Given the description of an element on the screen output the (x, y) to click on. 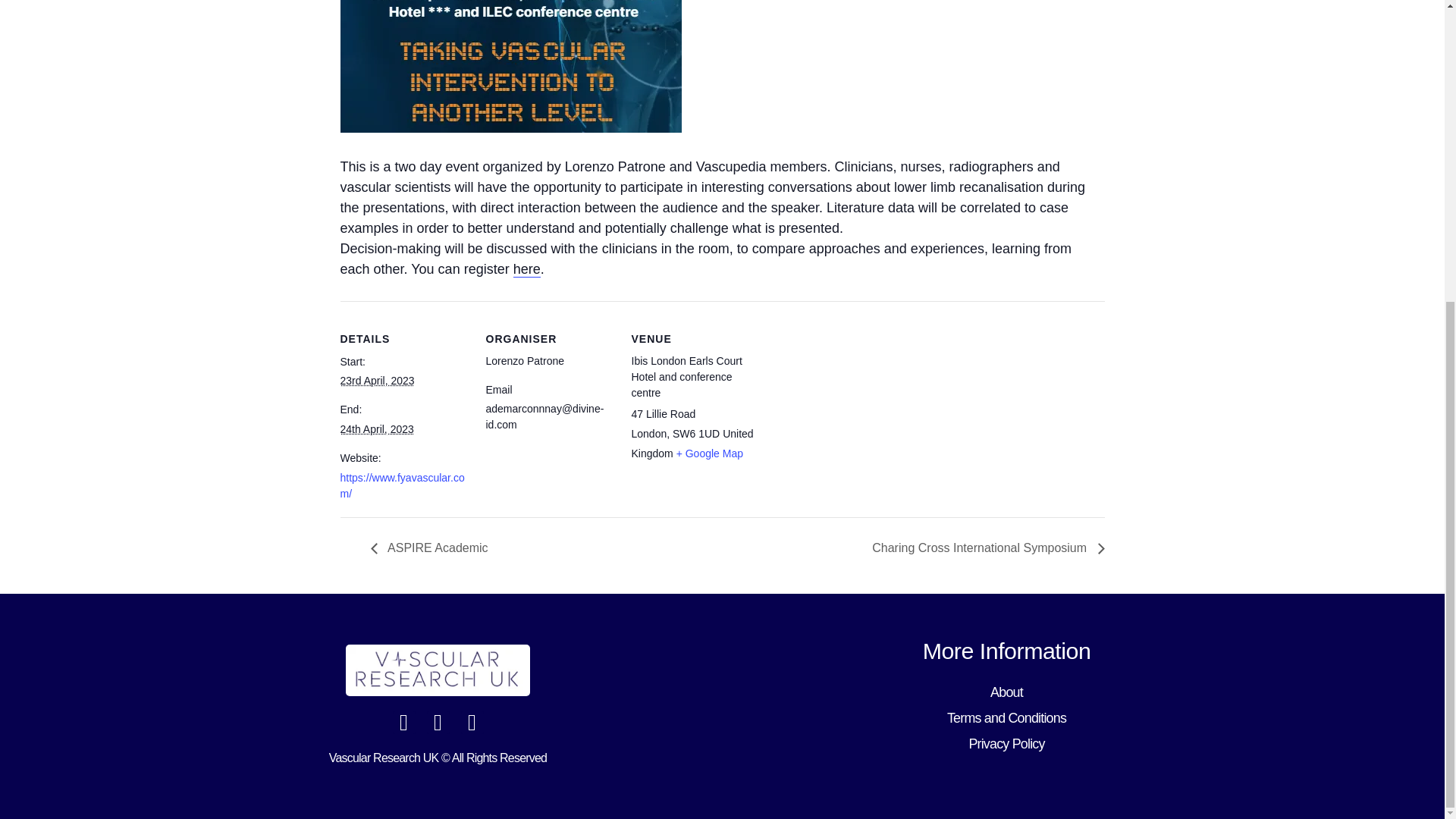
2023-04-24 (376, 428)
2023-04-23 (376, 380)
Click to view a Google Map (709, 453)
